Given the description of an element on the screen output the (x, y) to click on. 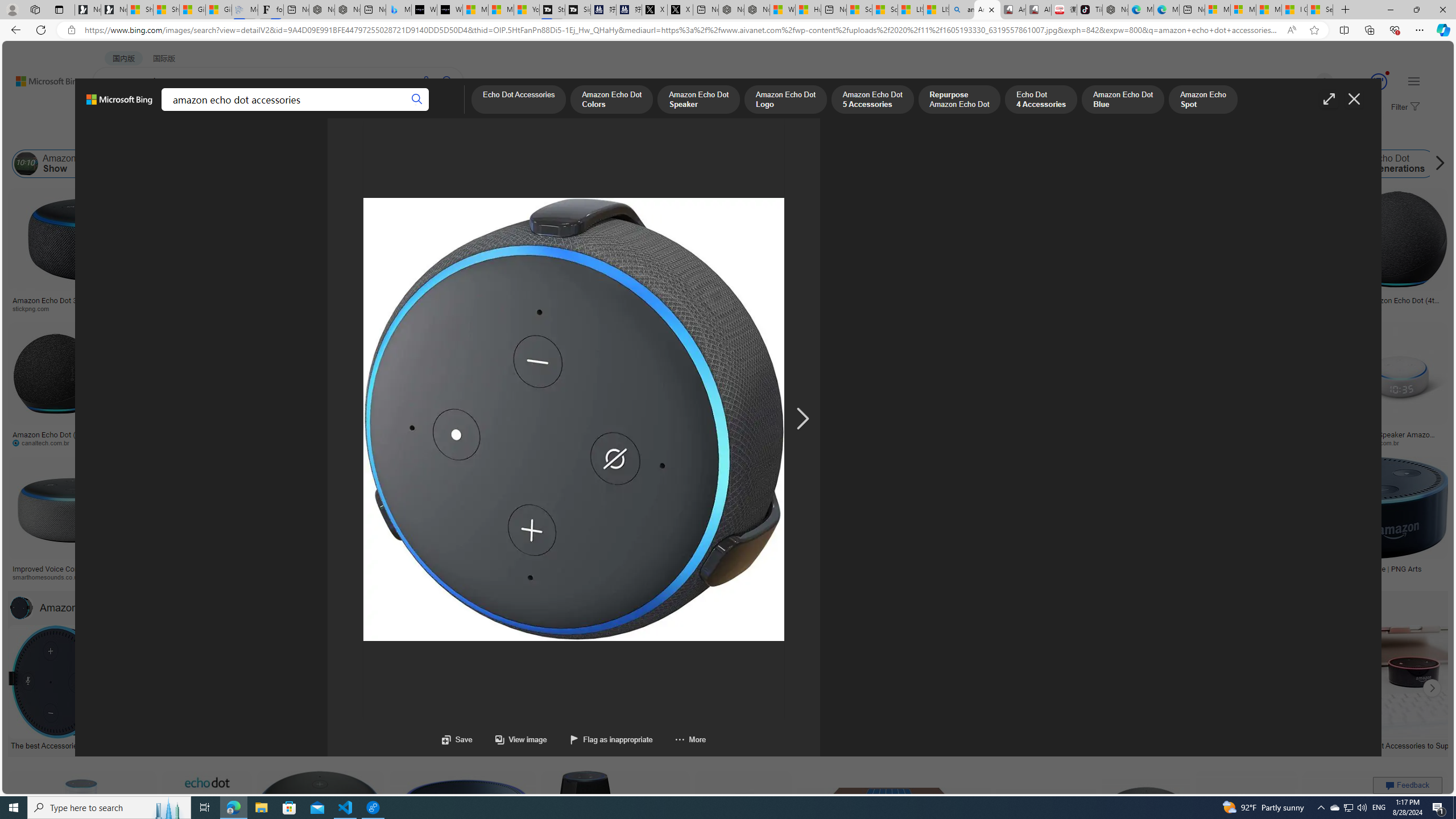
canaltech.com.br (56, 442)
currys.co.uk (1070, 576)
Flag as inappropriate (599, 739)
Microsoft Start Sports (475, 9)
Improved Voice Control with Sonos & Alexa Echo devices (72, 572)
